Given the description of an element on the screen output the (x, y) to click on. 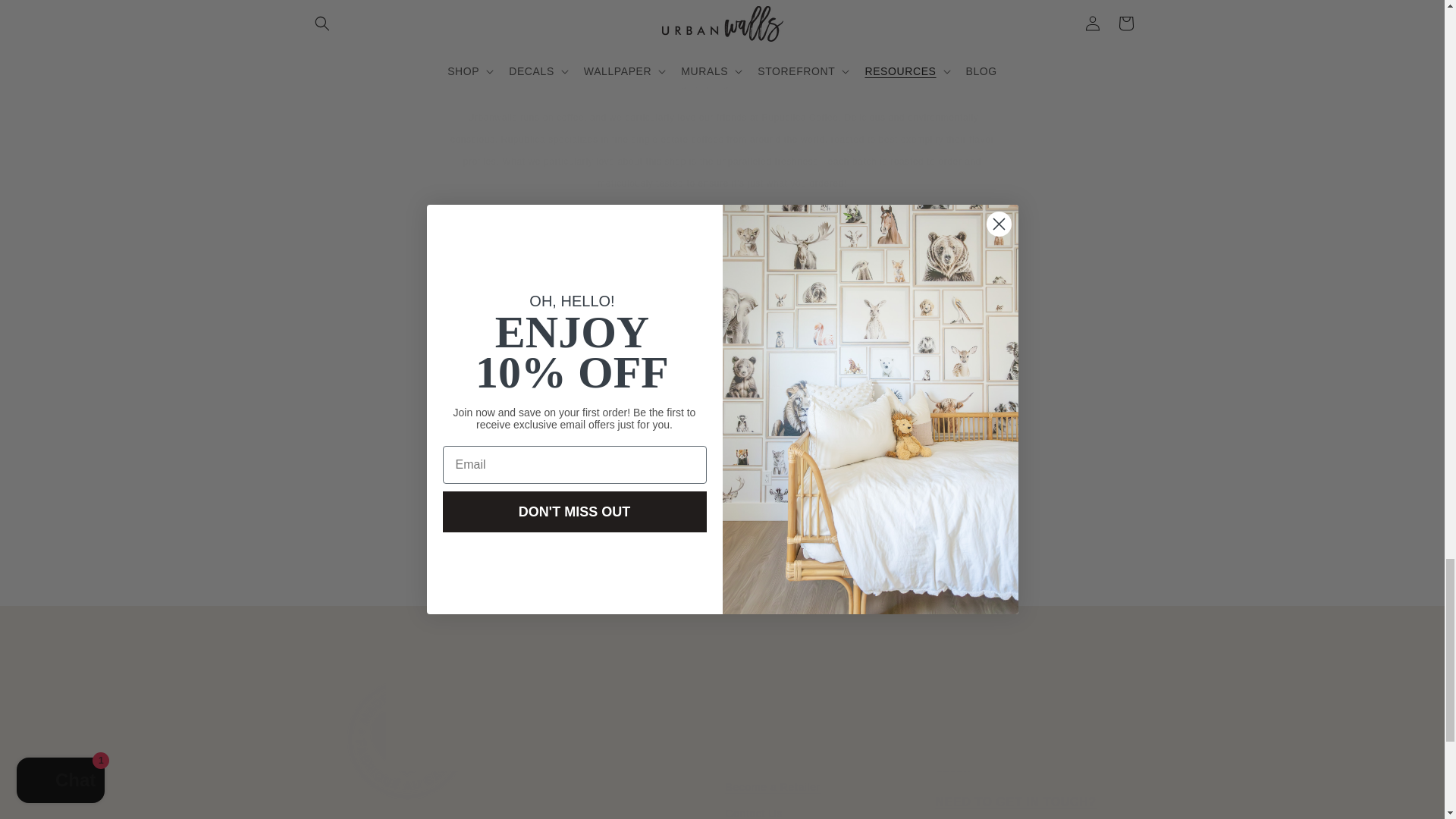
Contact (1016, 807)
